Given the description of an element on the screen output the (x, y) to click on. 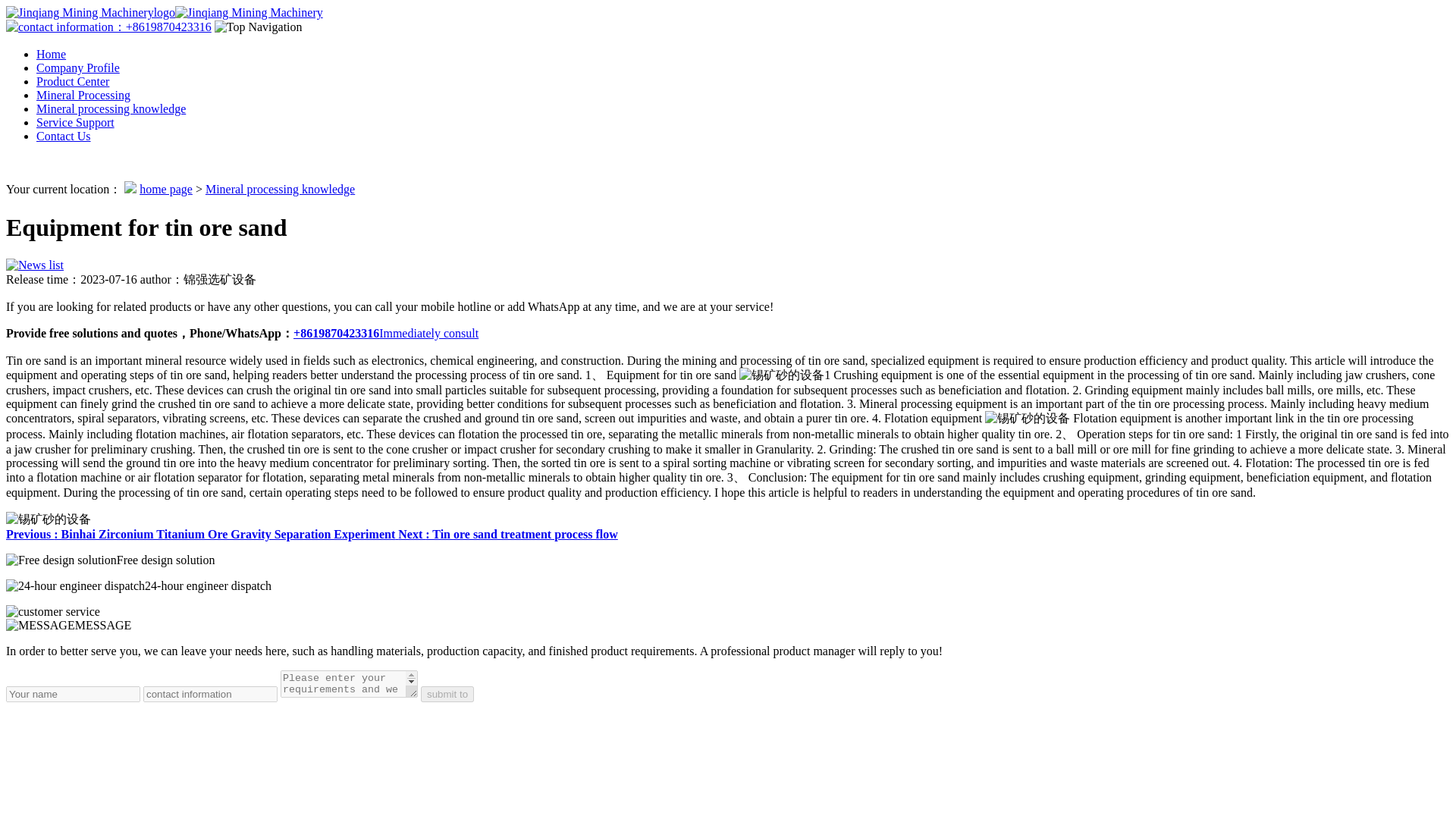
News list (34, 264)
Mineral Processing (83, 94)
Mineral processing knowledge (280, 188)
home page (165, 188)
MESSAGE (68, 625)
Immediately consult (428, 332)
Home (50, 53)
Binhai Zirconium Titanium Ore Gravity Separation Experiment (201, 533)
Tin ore sand treatment process flow (507, 533)
Product Center (72, 81)
Contact Us (63, 135)
Service Support (75, 122)
Company Profile (77, 67)
Mineral processing knowledge (111, 108)
